Given the description of an element on the screen output the (x, y) to click on. 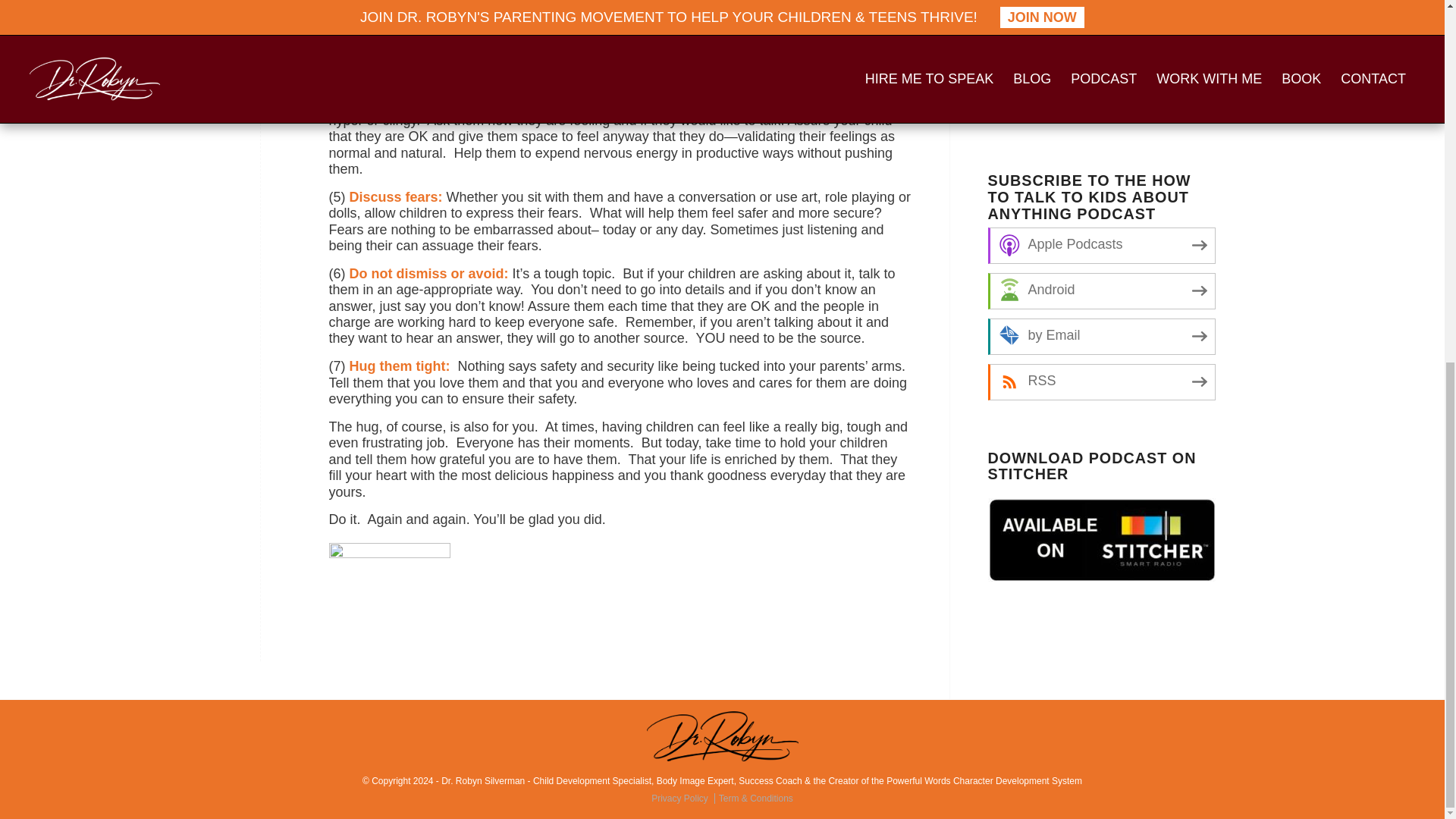
RSS (1100, 381)
Subscribe on Apple Podcasts (1100, 245)
Apple Podcasts (1100, 245)
Subscribe on Android (1100, 290)
Subscribe by Email (1100, 336)
Subscribe via RSS (1100, 381)
by Email (1100, 336)
How to Talk to Kids About Anything Podcast (1100, 59)
Privacy Policy (682, 798)
Android (1100, 290)
